Given the description of an element on the screen output the (x, y) to click on. 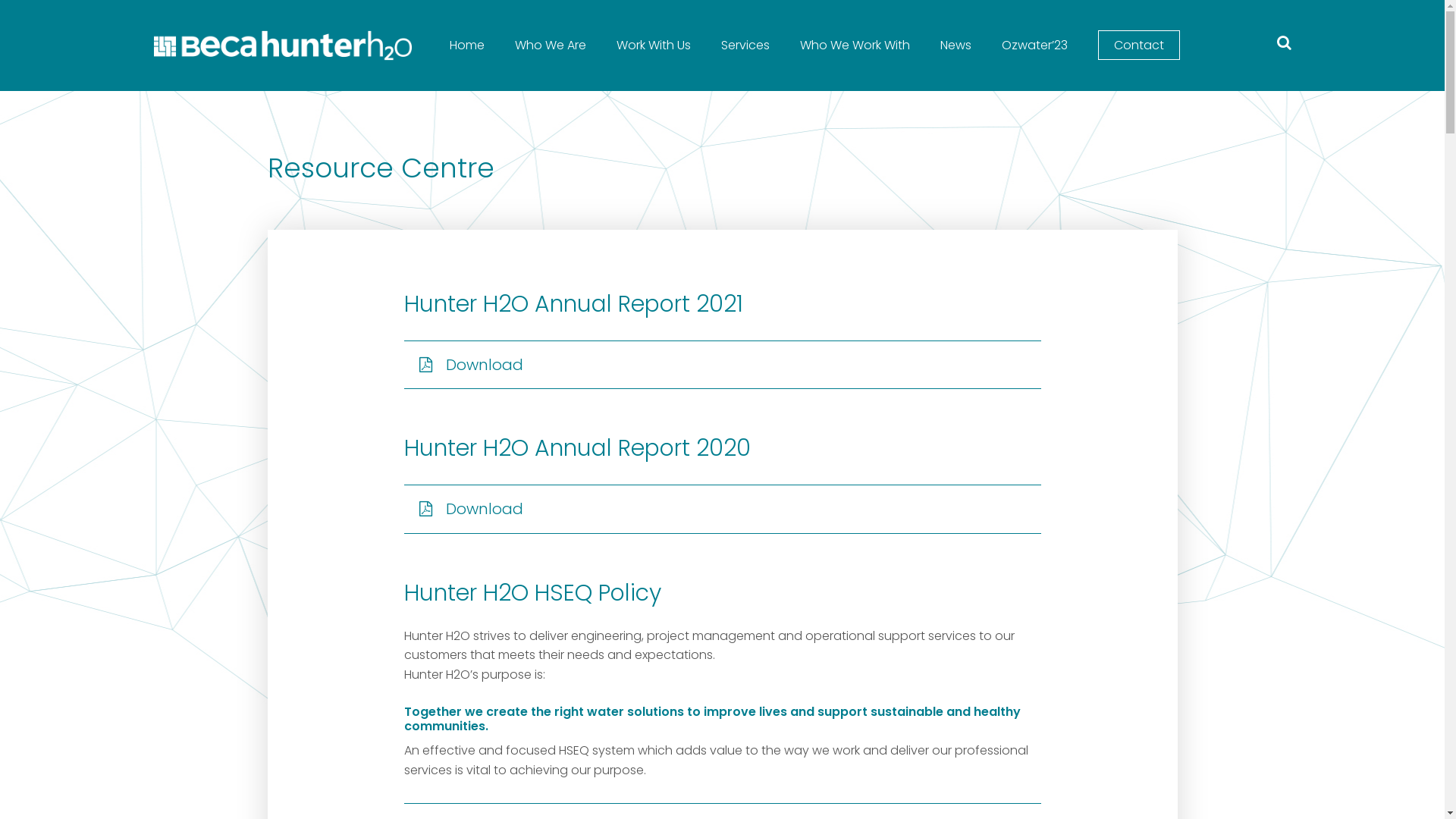
Download Element type: text (721, 508)
Contact Element type: text (1138, 44)
Work With Us Element type: text (652, 44)
Who We Are Element type: text (549, 44)
News Element type: text (955, 44)
Who We Work With Element type: text (854, 44)
Services Element type: text (744, 44)
Download Element type: text (721, 364)
Home Element type: text (465, 44)
